Given the description of an element on the screen output the (x, y) to click on. 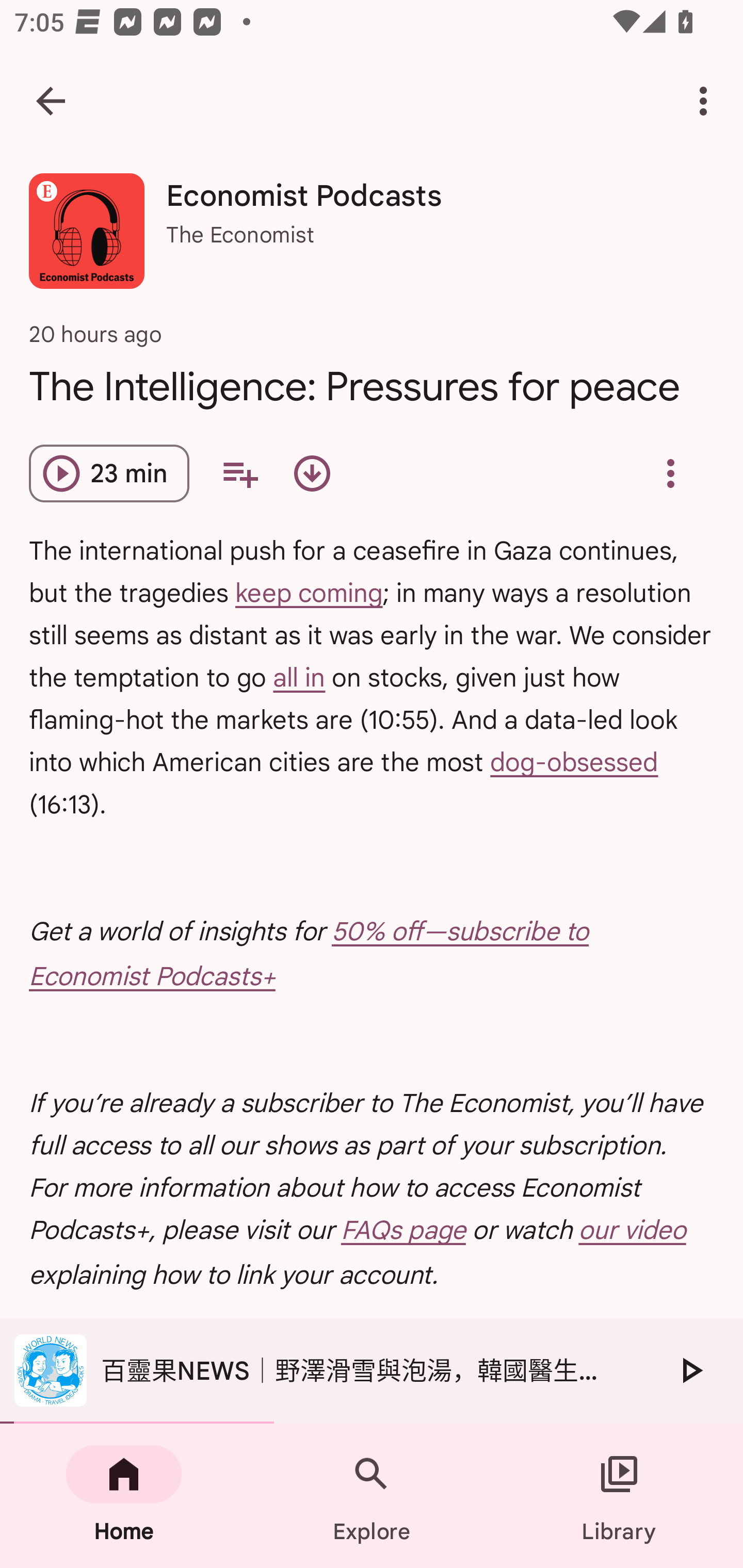
Navigate up (50, 101)
More options (706, 101)
Add to your queue (239, 473)
Download episode (312, 473)
Overflow menu (670, 473)
Play (690, 1370)
Explore (371, 1495)
Library (619, 1495)
